Given the description of an element on the screen output the (x, y) to click on. 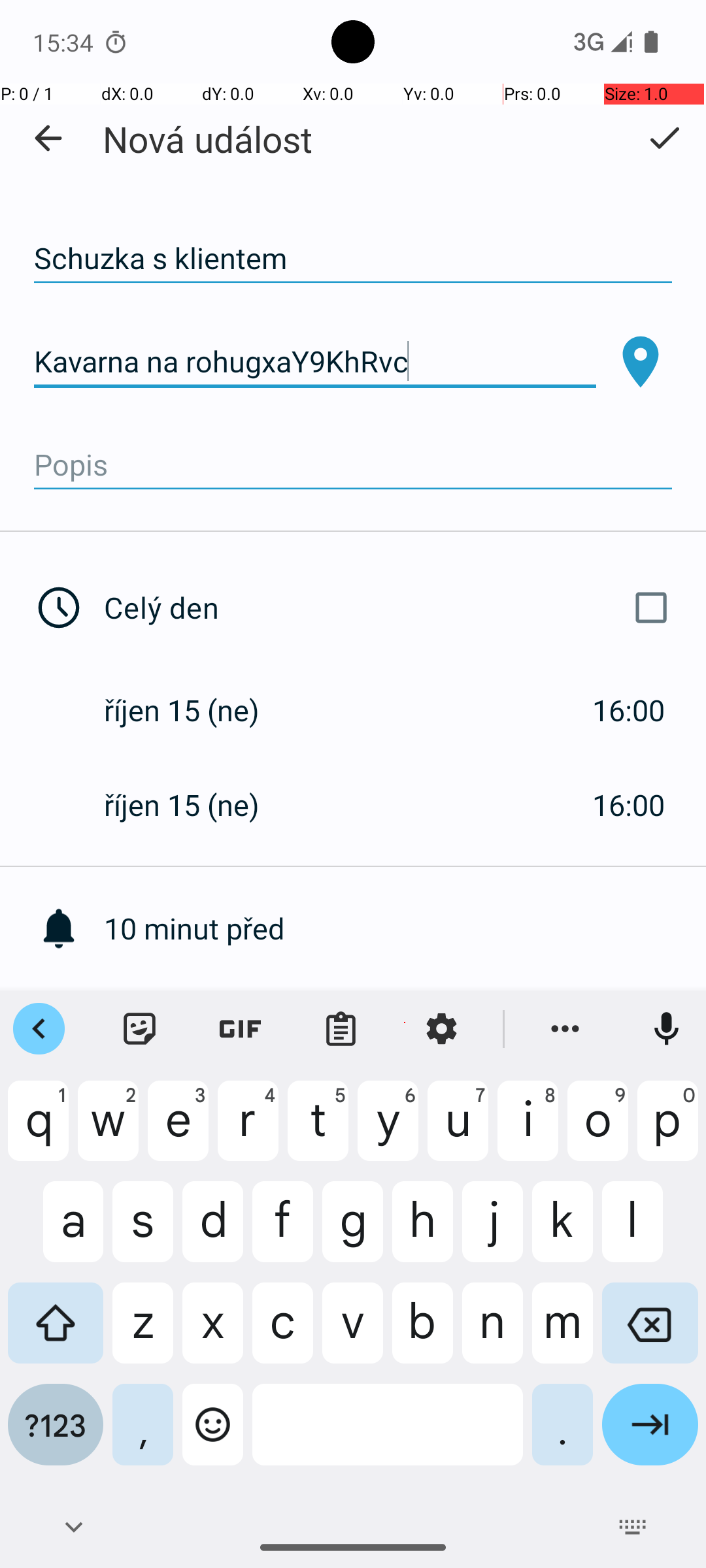
Uložit Element type: android.widget.Button (664, 137)
Schuzka s klientem Element type: android.widget.EditText (352, 258)
Kavarna na rohugxaY9KhRvc Element type: android.widget.EditText (314, 361)
Popis Element type: android.widget.EditText (352, 465)
říjen 15 (ne) Element type: android.widget.TextView (194, 709)
10 minut před Element type: android.widget.TextView (404, 927)
Přidat další připomínku Element type: android.widget.TextView (404, 1022)
Celý den Element type: android.widget.CheckBox (390, 607)
